Given the description of an element on the screen output the (x, y) to click on. 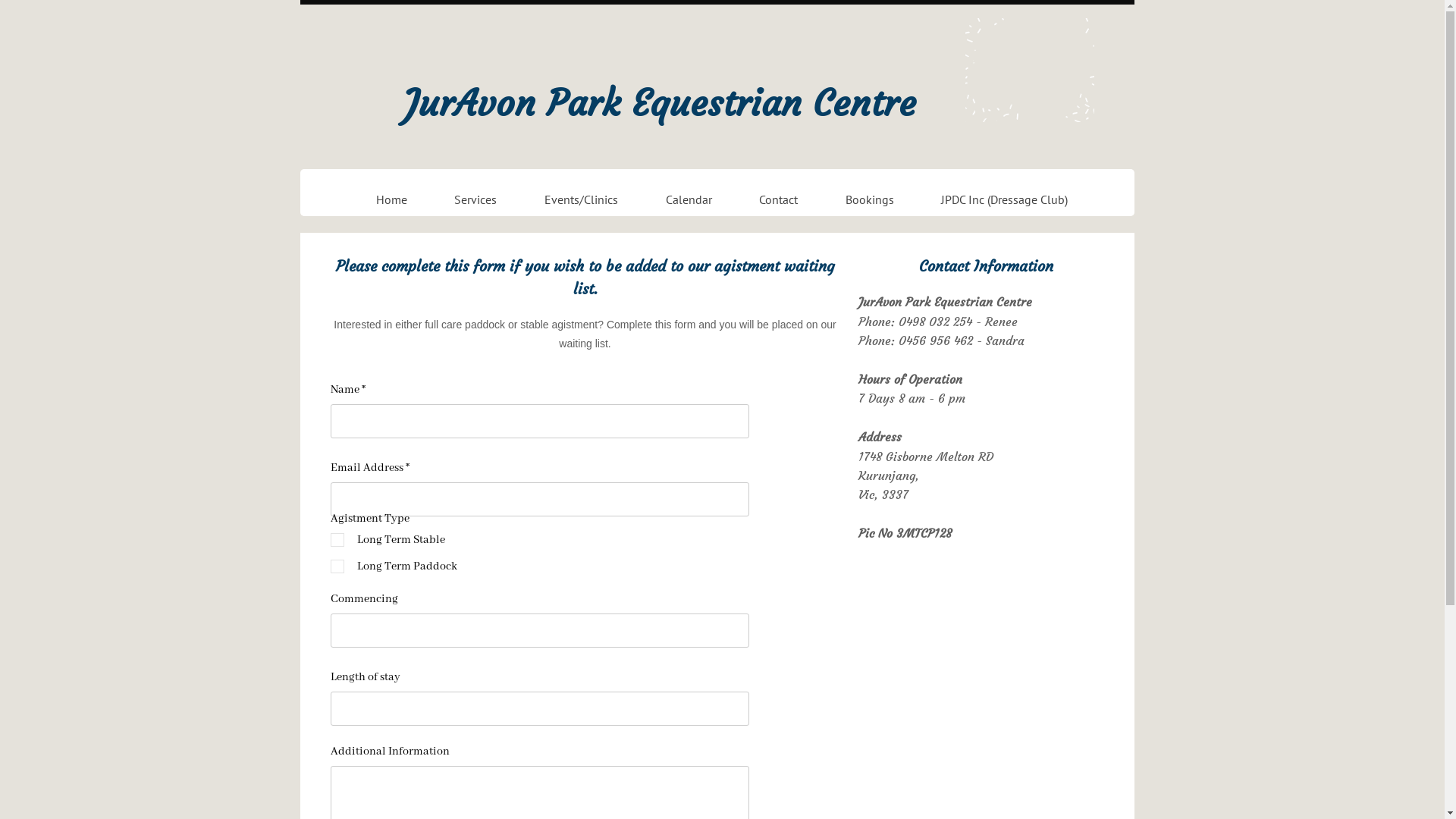
Contact Element type: text (778, 199)
Bookings Element type: text (869, 199)
Home Element type: text (390, 199)
Events/Clinics Element type: text (581, 199)
Services Element type: text (475, 199)
Calendar Element type: text (688, 199)
JPDC Inc (Dressage Club) Element type: text (1004, 199)
